Given the description of an element on the screen output the (x, y) to click on. 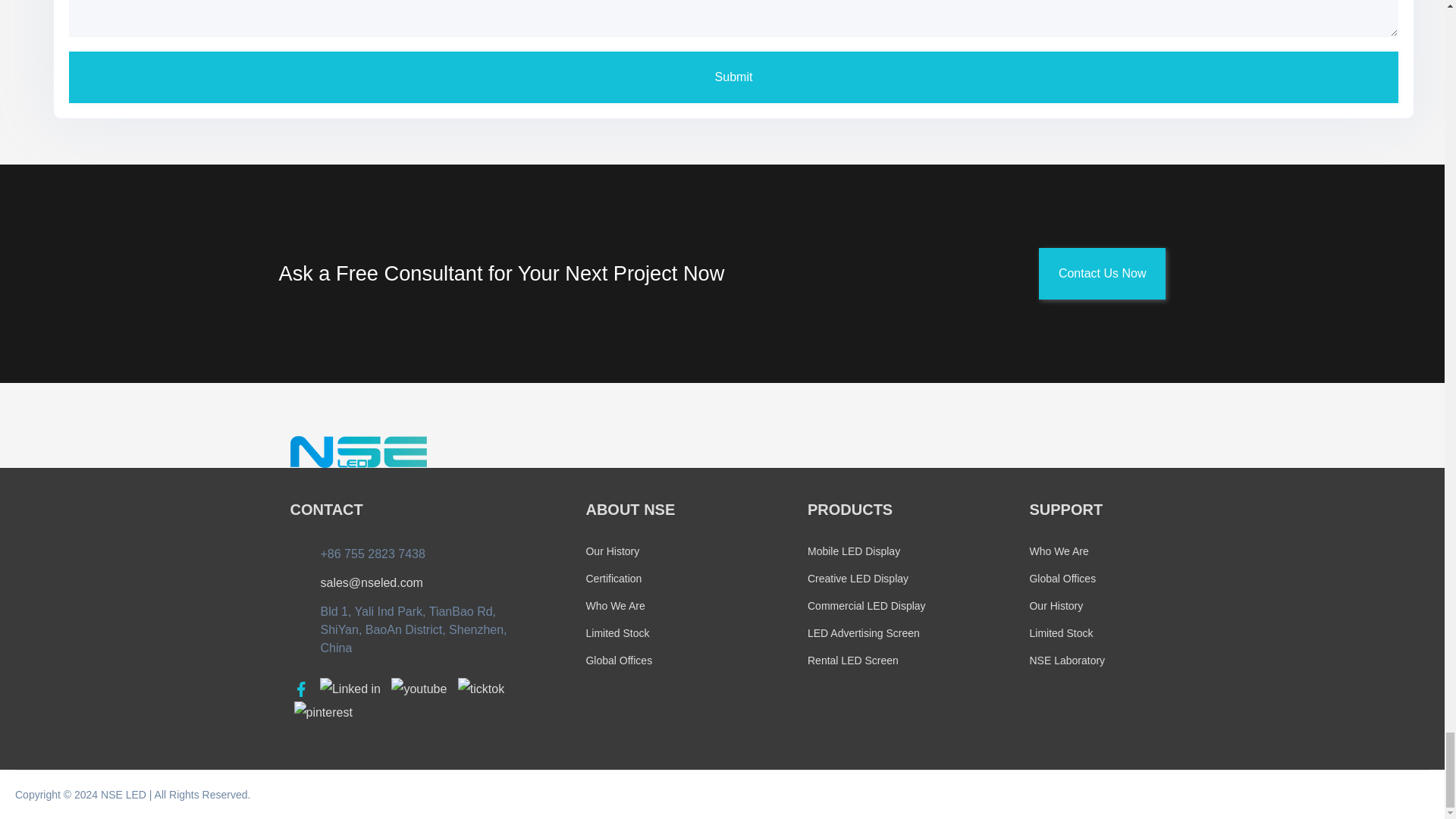
Submit (732, 77)
